Given the description of an element on the screen output the (x, y) to click on. 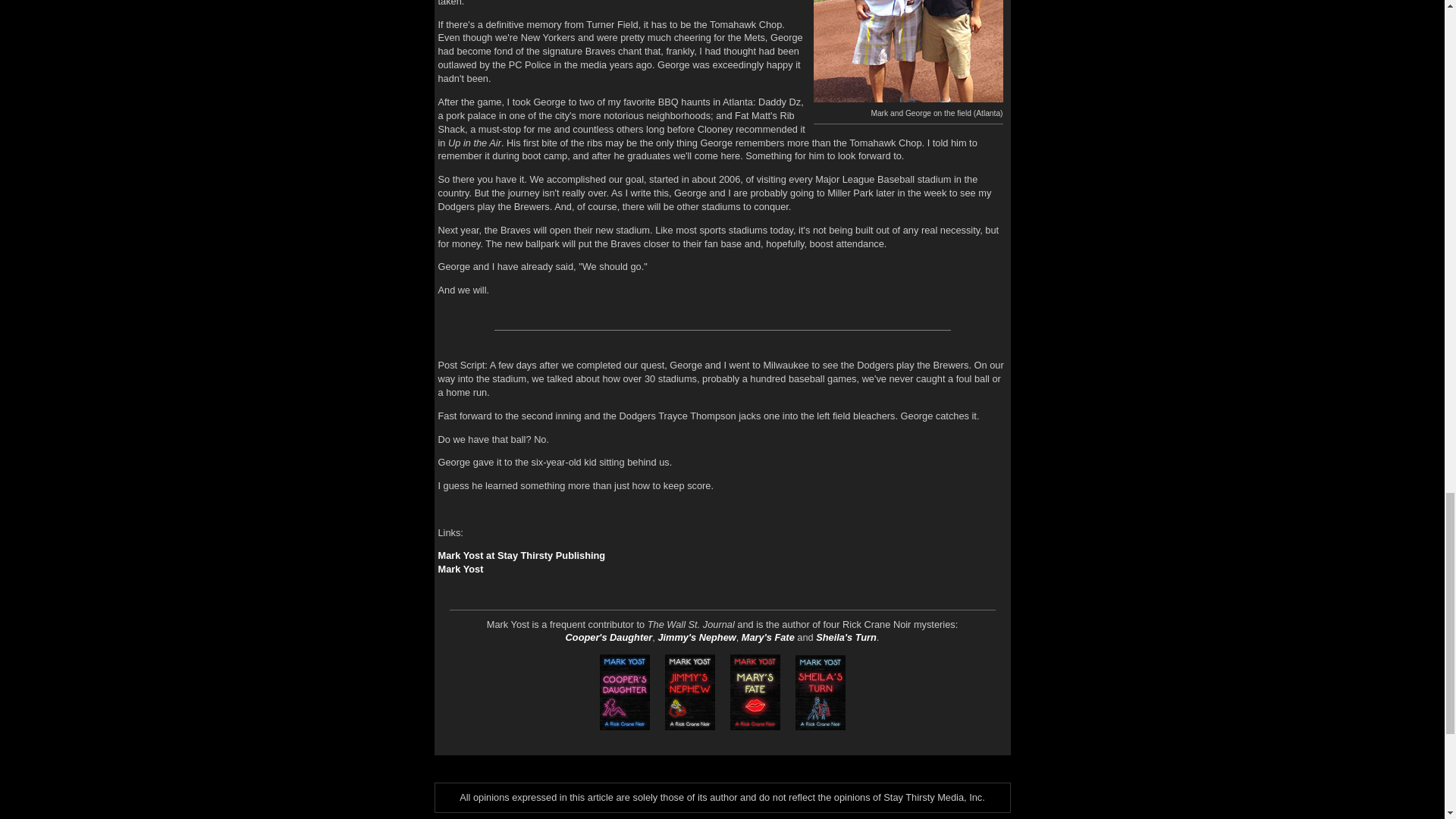
Sheila's Turn (845, 636)
Mark Yost at Stay Thirsty Publishing (521, 555)
Mark Yost (460, 568)
Mary's Fate (767, 636)
Jimmy's Nephew (696, 636)
Cooper's Daughter (609, 636)
